Given the description of an element on the screen output the (x, y) to click on. 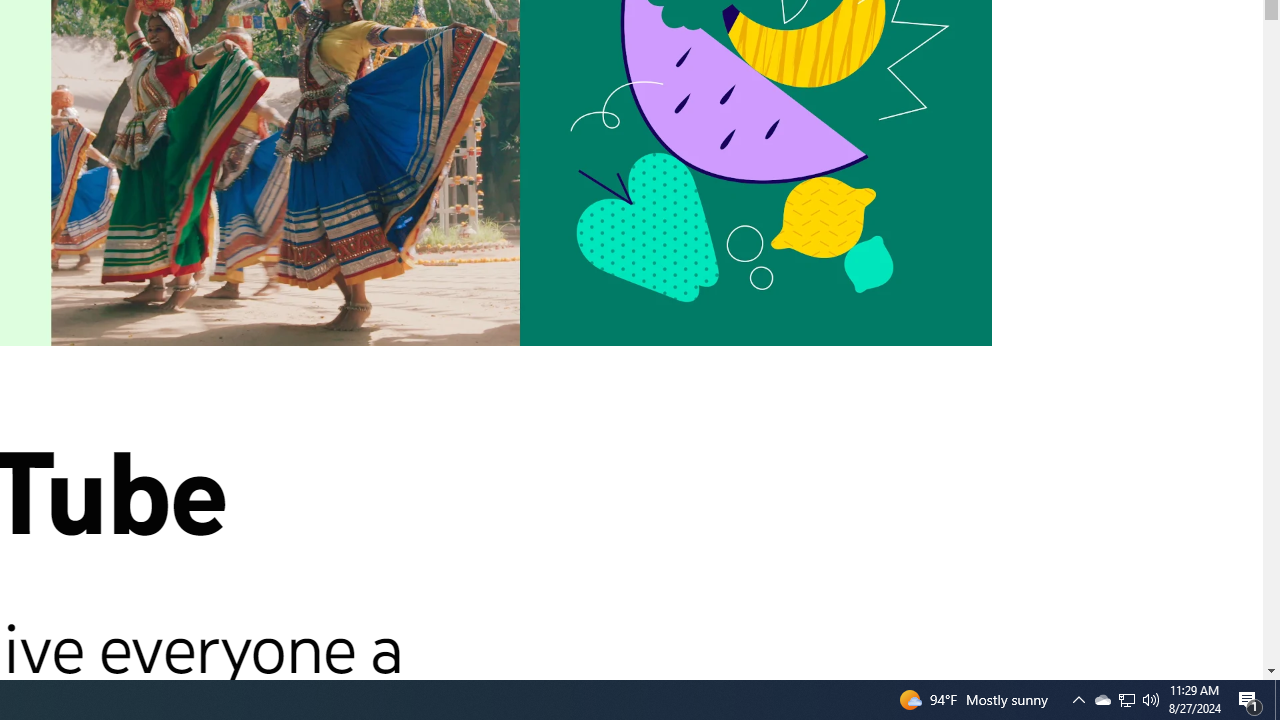
Show desktop (1102, 699)
Action Center, 1 new notification (1277, 699)
Notification Chevron (1250, 699)
User Promoted Notification Area (1078, 699)
Q2790: 100% (1126, 699)
